Given the description of an element on the screen output the (x, y) to click on. 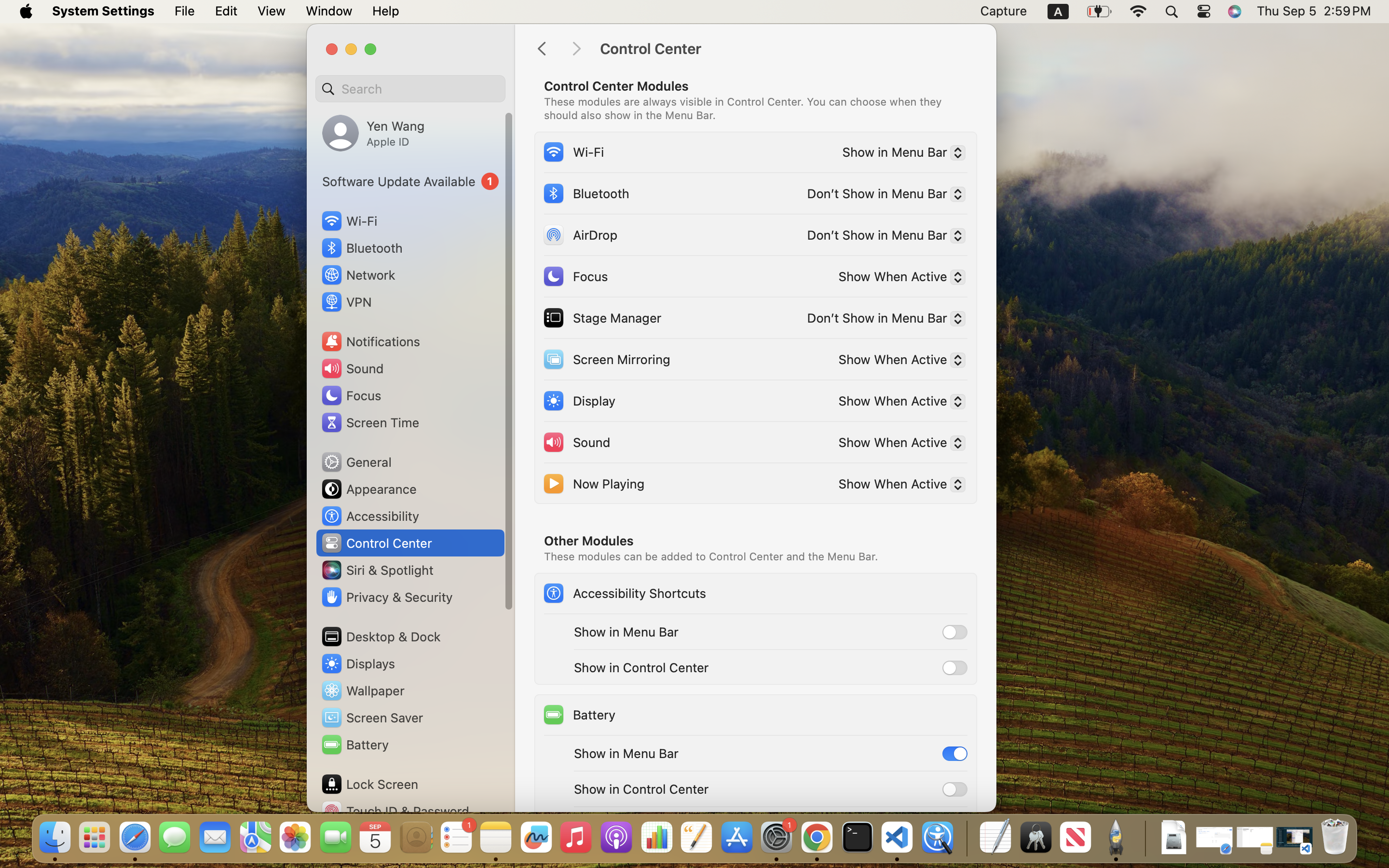
Desktop & Dock Element type: AXStaticText (380, 636)
Screen Mirroring Element type: AXStaticText (606, 358)
Show in Control Center Element type: AXStaticText (640, 667)
Notifications Element type: AXStaticText (370, 340)
